Given the description of an element on the screen output the (x, y) to click on. 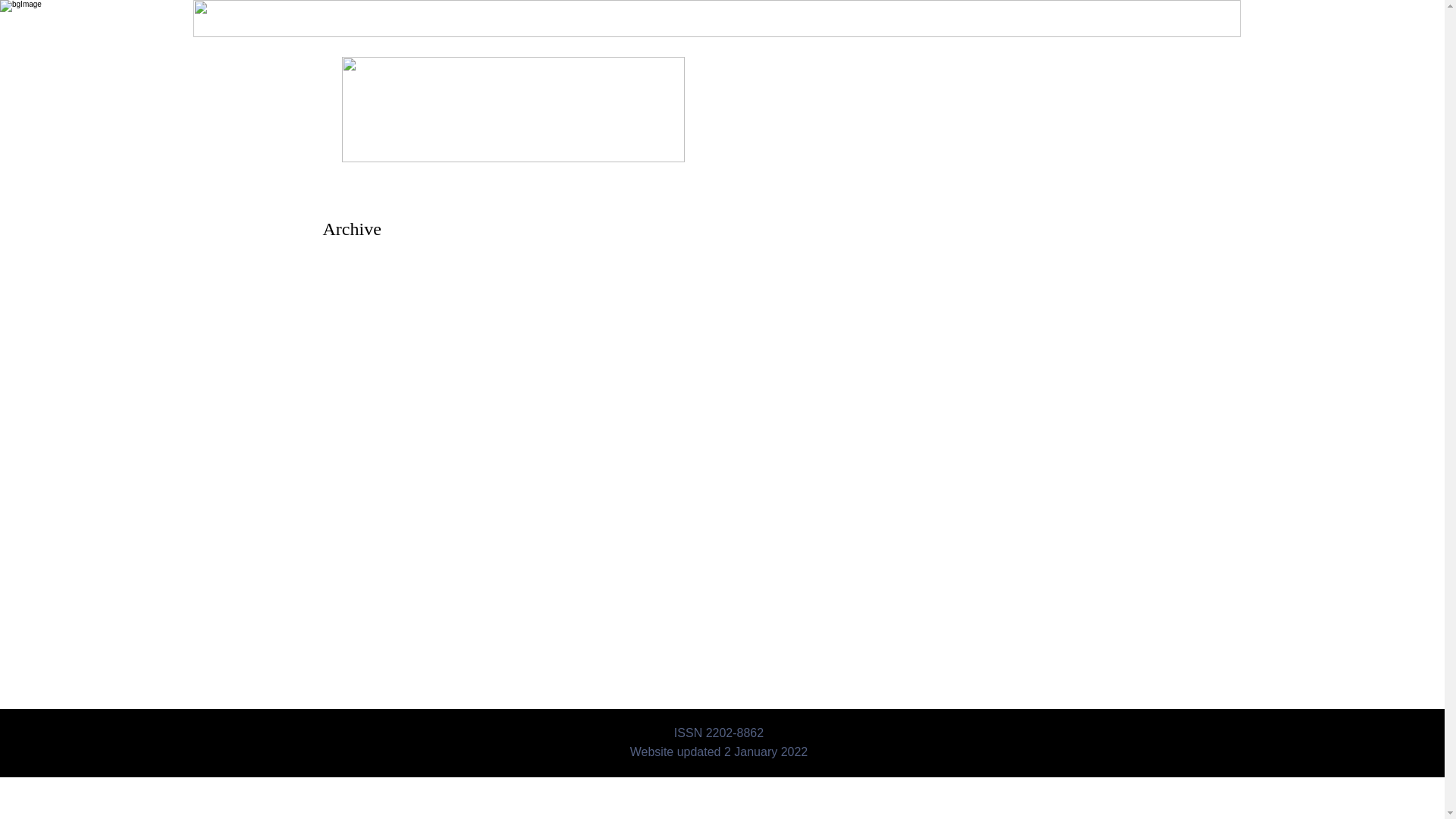
About Us Element type: text (411, 17)
Author index Element type: text (849, 17)
Contact Us Element type: text (1049, 17)
News Element type: text (472, 17)
Current Issue Element type: text (700, 17)
Archive Element type: text (775, 17)
Submit to Meniscus Element type: text (951, 17)
Home Element type: text (350, 17)
Editors Element type: text (625, 17)
Advisory Board Element type: text (547, 17)
